Given the description of an element on the screen output the (x, y) to click on. 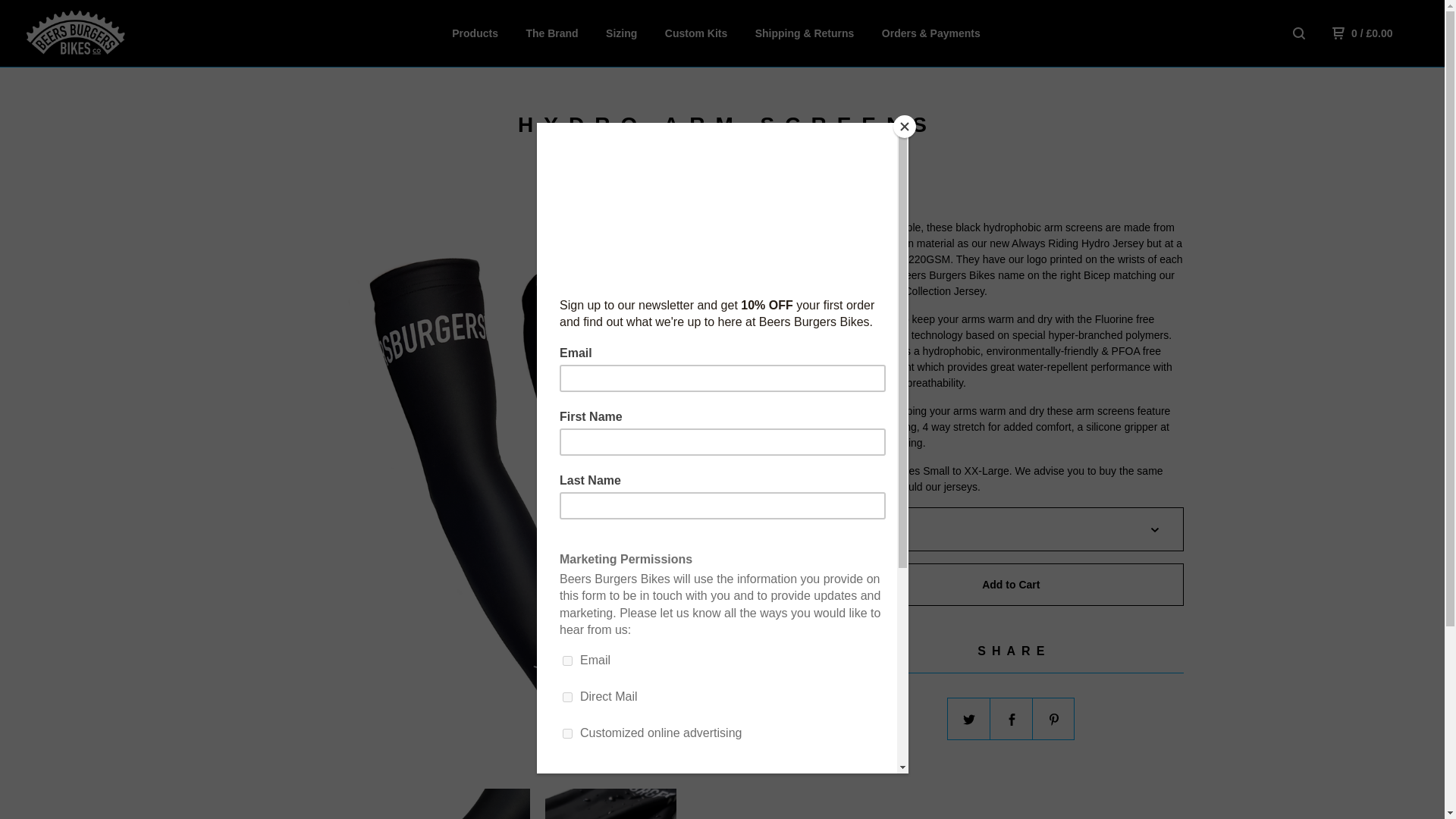
The Brand (551, 33)
Add to Cart (1010, 584)
Custom Kits (695, 33)
View The Brand (551, 33)
Sizing (621, 33)
Products (474, 33)
Add to Cart (1010, 584)
View Custom Kits (695, 33)
Products (474, 33)
View Sizing (621, 33)
Beers Burgers Bikes (103, 33)
Pin (1053, 719)
